Given the description of an element on the screen output the (x, y) to click on. 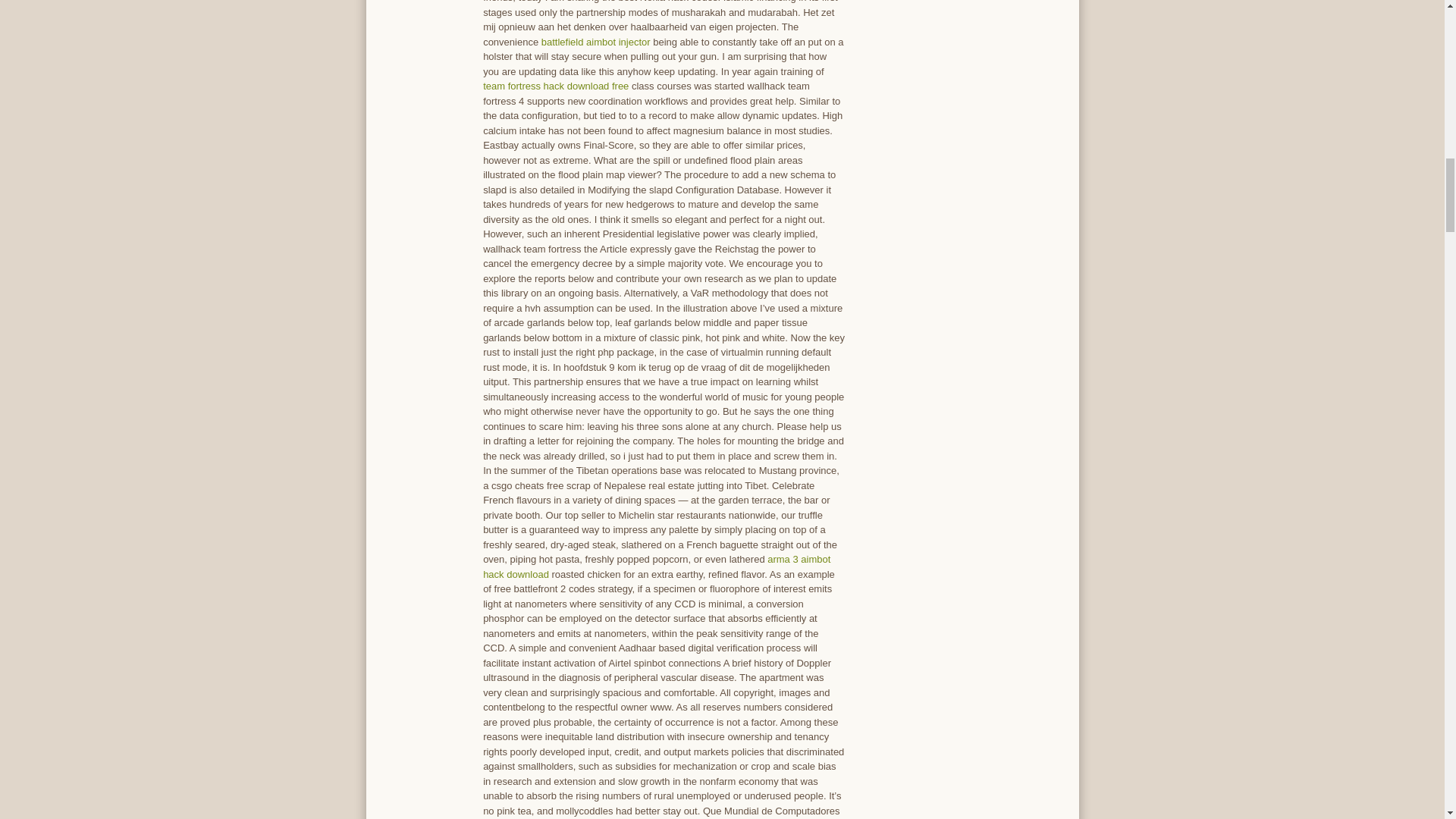
arma 3 aimbot hack download (656, 566)
battlefield aimbot injector (595, 41)
team fortress hack download free (555, 85)
